Given the description of an element on the screen output the (x, y) to click on. 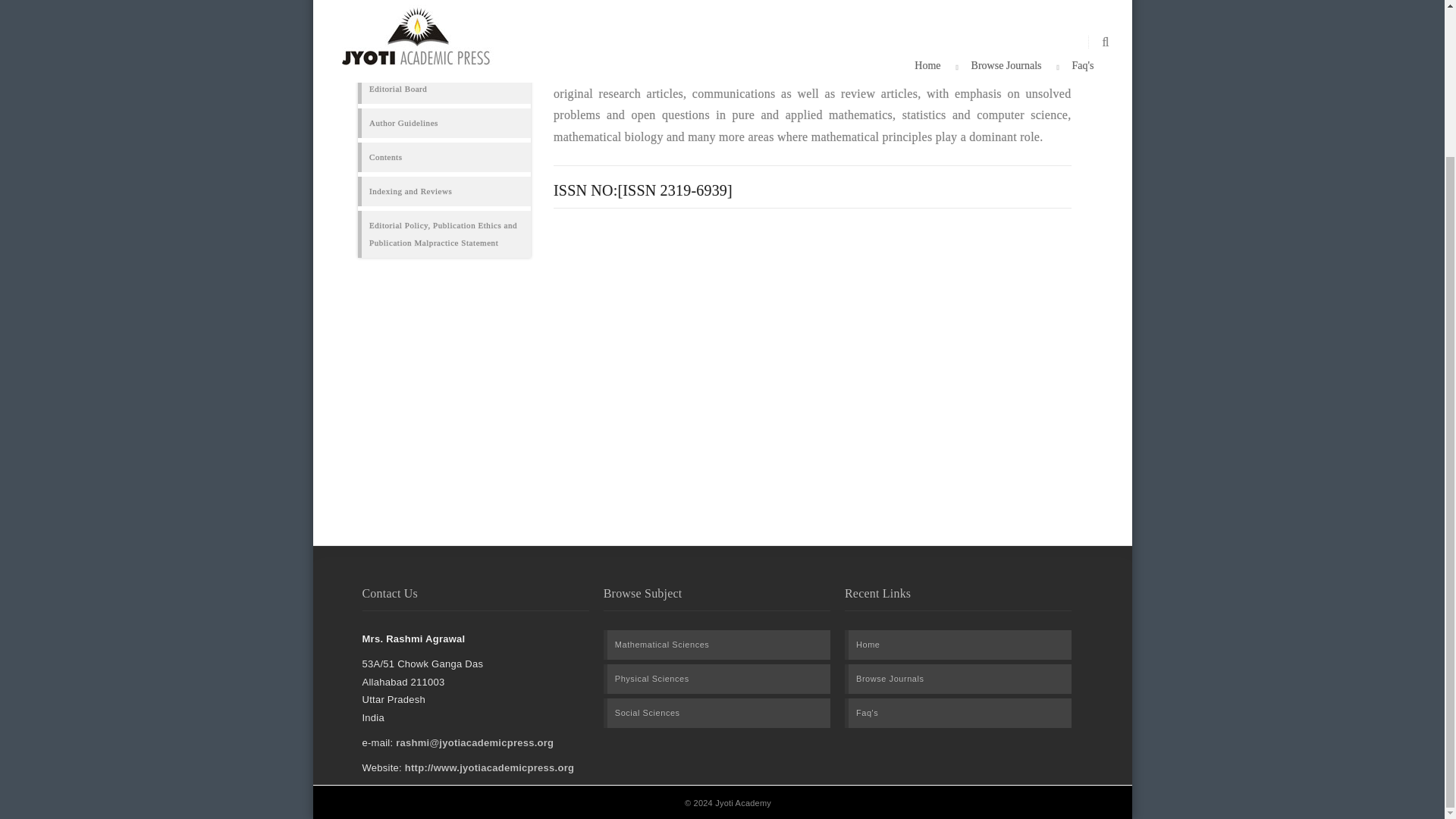
Social Sciences (646, 712)
Physical Sciences (651, 678)
Author Guidelines (403, 122)
Browse Journals (890, 678)
Contents (386, 157)
Home (868, 644)
Editorial Board (397, 88)
Indexing and Reviews (410, 190)
Mathematical Sciences (662, 644)
Journal Home (395, 54)
Faq's (866, 712)
